Given the description of an element on the screen output the (x, y) to click on. 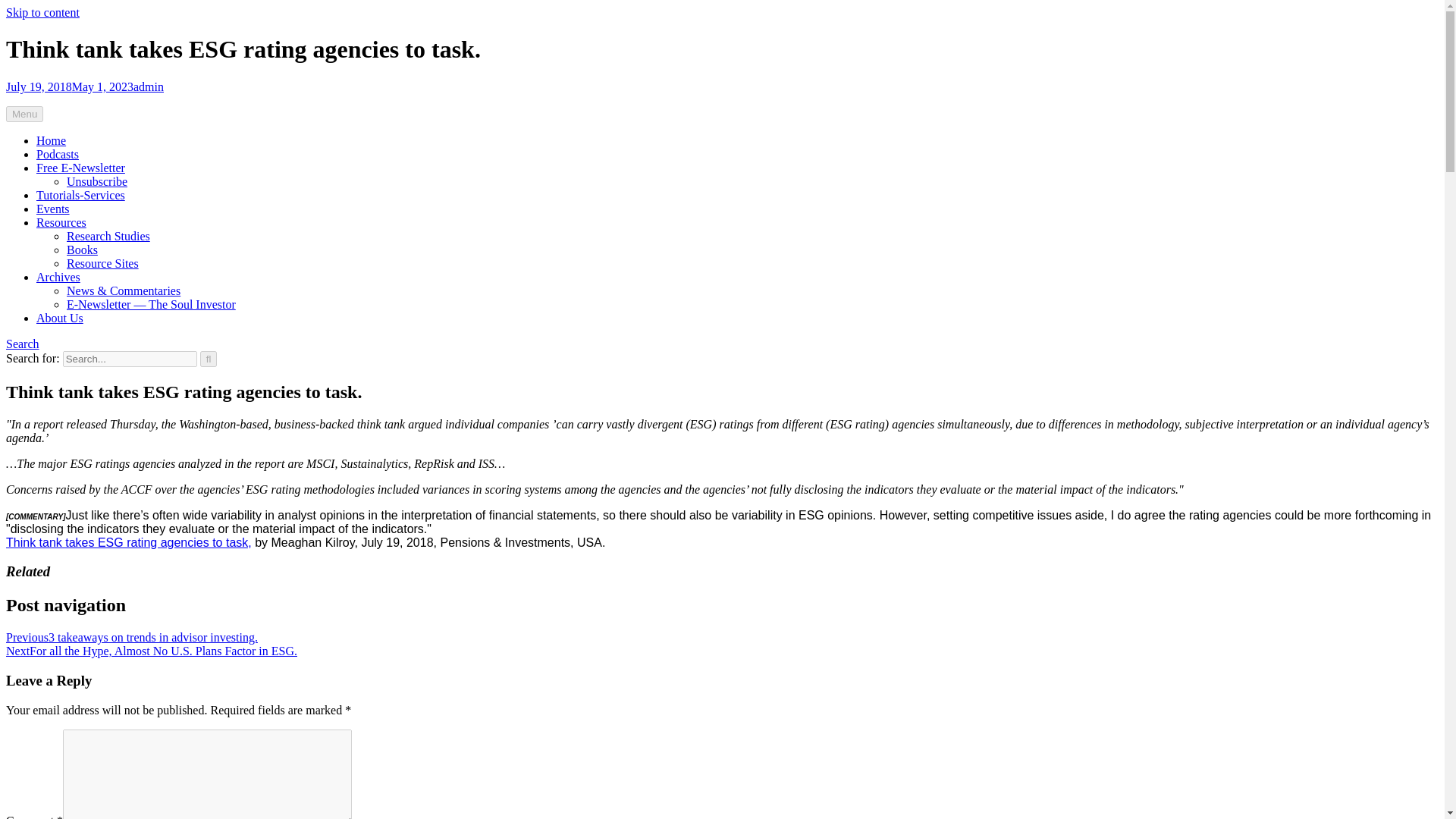
NextFor all the Hype, Almost No U.S. Plans Factor in ESG. (151, 650)
July 19, 2018May 1, 2023 (69, 86)
Search (22, 343)
Unsubscribe (97, 181)
admin (148, 86)
Tutorials-Services (80, 195)
About Us (59, 318)
Resource Sites (102, 263)
Research Studies (107, 236)
Free E-Newsletter (80, 167)
